Given the description of an element on the screen output the (x, y) to click on. 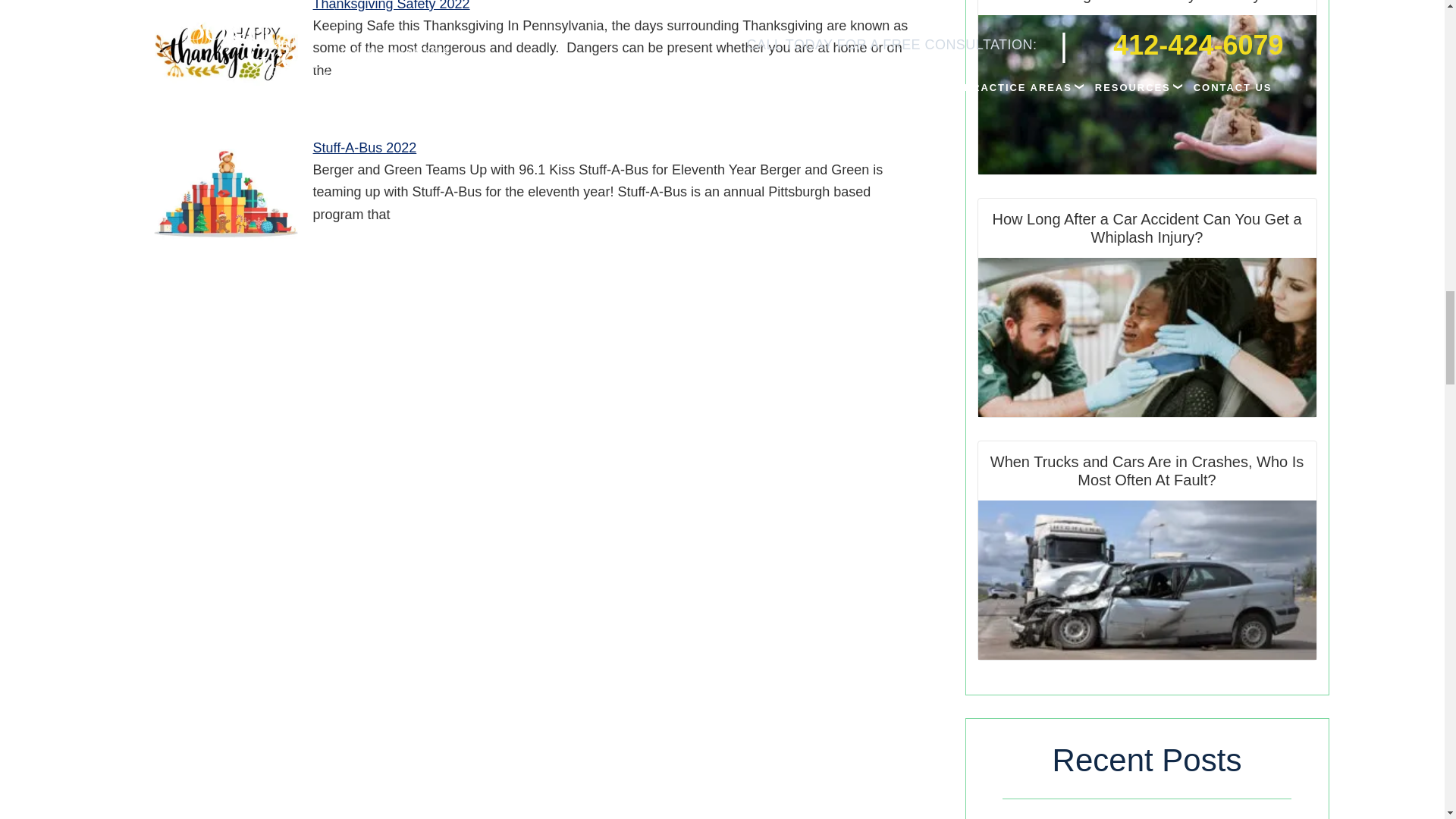
Thanksgiving Safety 2022 (224, 53)
Stuff-A-Bus 2022 (224, 193)
